Given the description of an element on the screen output the (x, y) to click on. 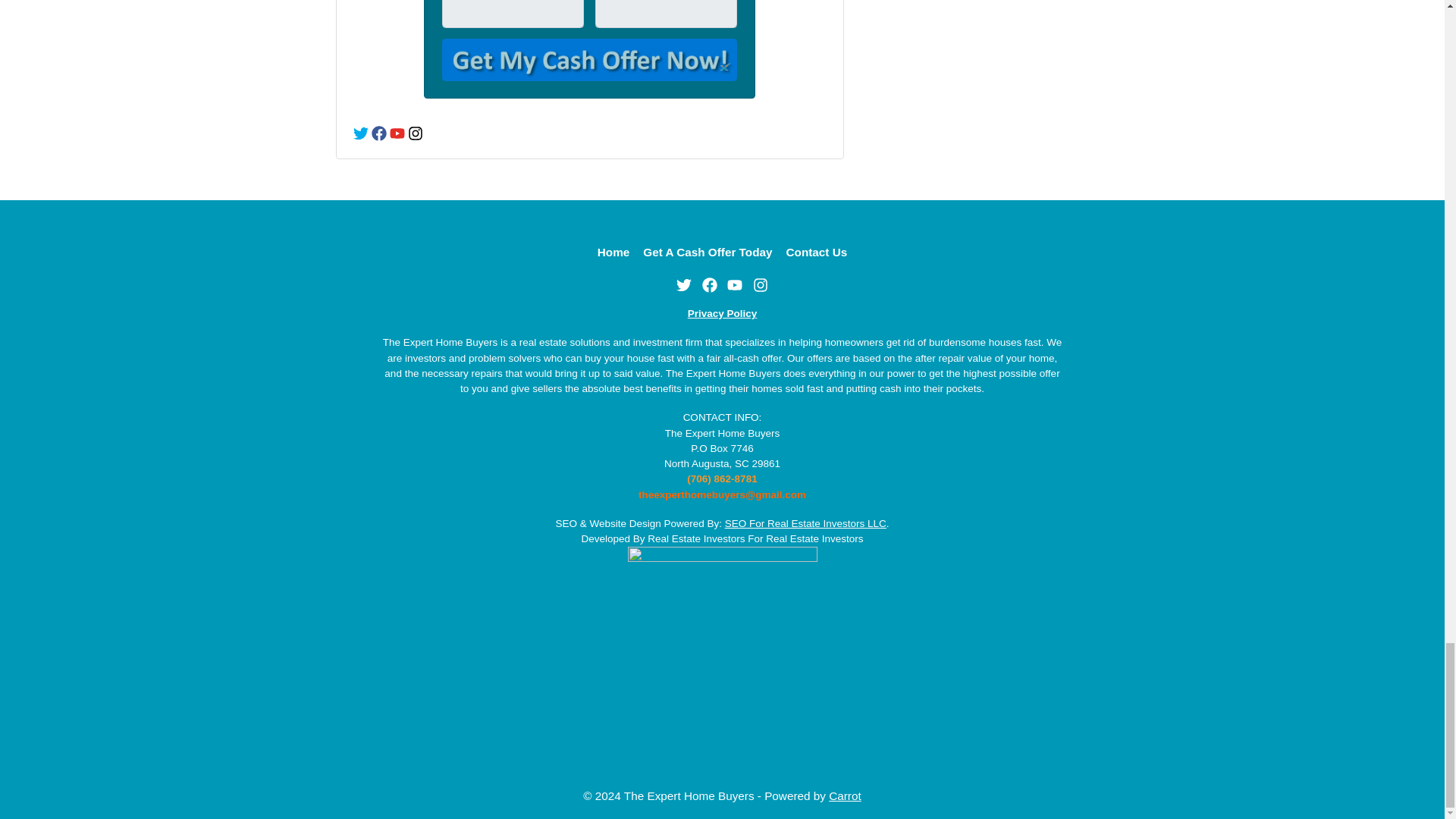
Facebook (379, 133)
Instagram (415, 133)
Twitter (684, 284)
Twitter (360, 133)
Contact Us (816, 251)
YouTube (397, 133)
YouTube (734, 284)
Home (614, 251)
Facebook (709, 284)
Get A Cash Offer Today (707, 251)
